Given the description of an element on the screen output the (x, y) to click on. 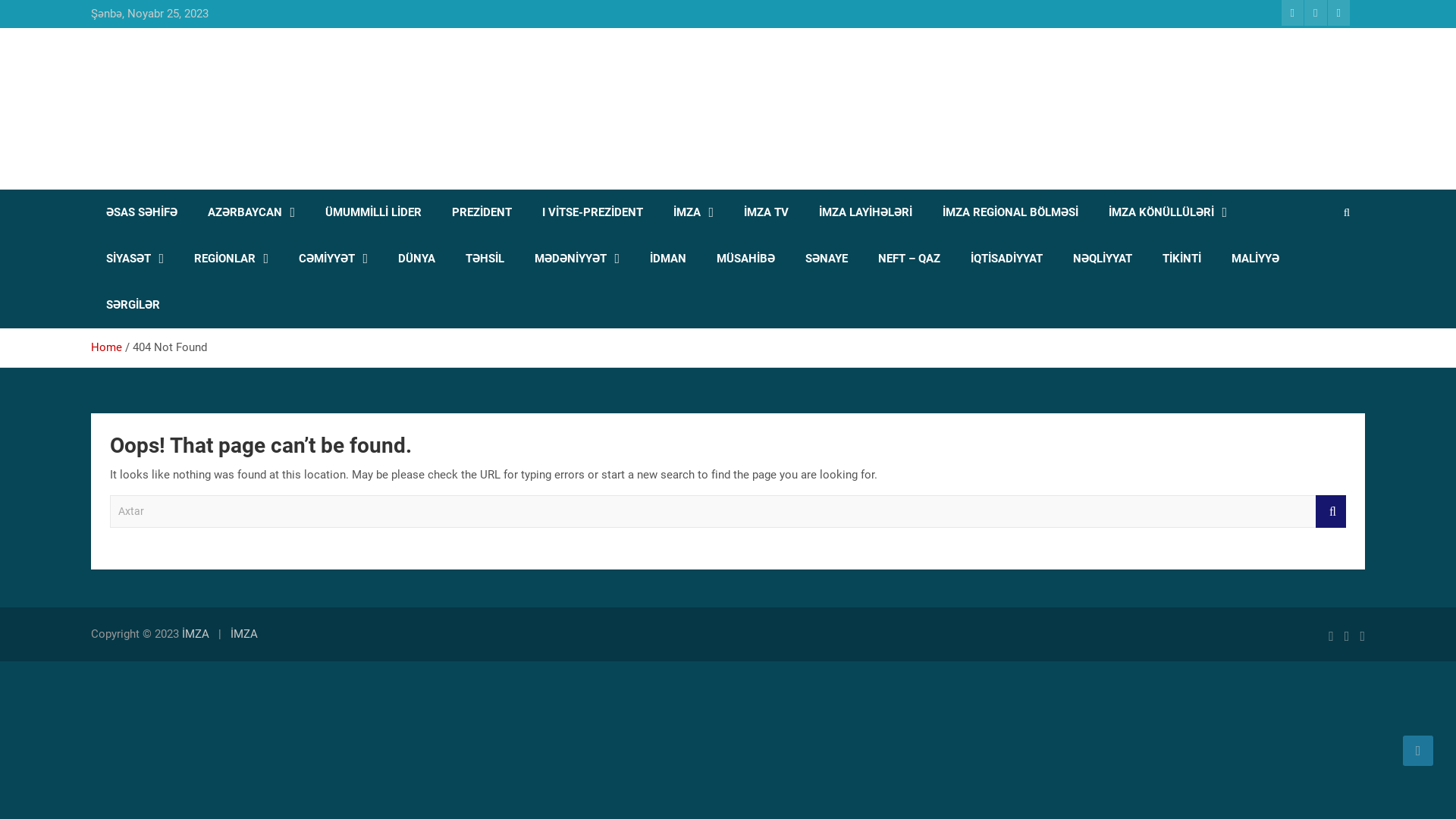
TIKINTI Element type: text (1181, 258)
Go to Top Element type: hover (1417, 750)
IQTISADIYYAT Element type: text (1006, 258)
REGIONLAR Element type: text (230, 258)
I VITSE-PREZIDENT Element type: text (592, 212)
PREZIDENT Element type: text (481, 212)
Home Element type: text (106, 347)
Axtar Element type: text (1330, 511)
